Given the description of an element on the screen output the (x, y) to click on. 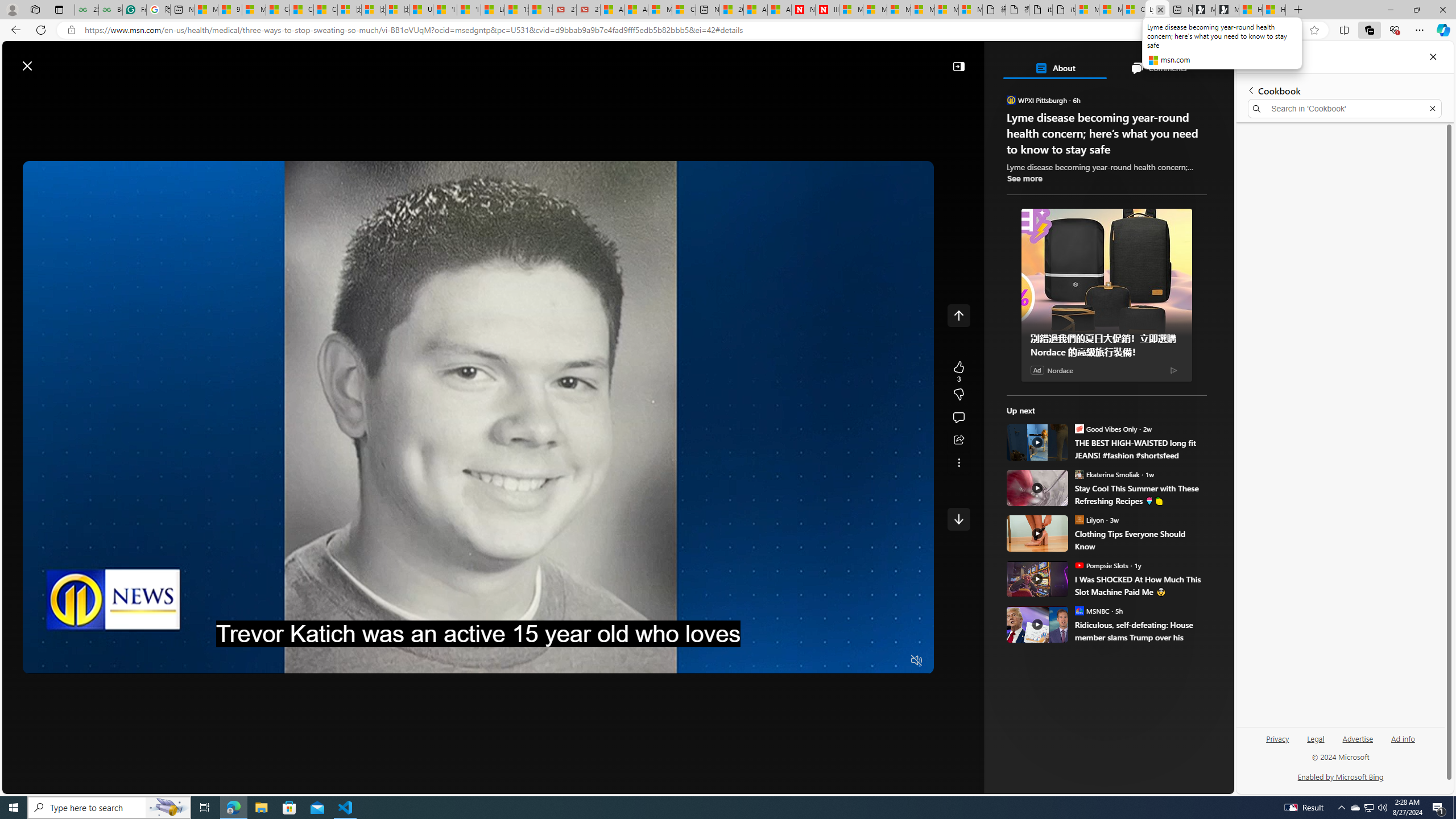
Ad (1037, 370)
3 Like (958, 371)
Copilot (Ctrl+Shift+.) (1442, 29)
Lifestyle - MSN (492, 9)
Ekaterina Smoliak Ekaterina Smoliak (1107, 474)
Open navigation menu (182, 92)
Feedback (1190, 784)
Tab actions menu (58, 9)
MSNBC (1079, 610)
Read aloud this page (Ctrl+Shift+U) (1268, 29)
Split screen (1344, 29)
